Given the description of an element on the screen output the (x, y) to click on. 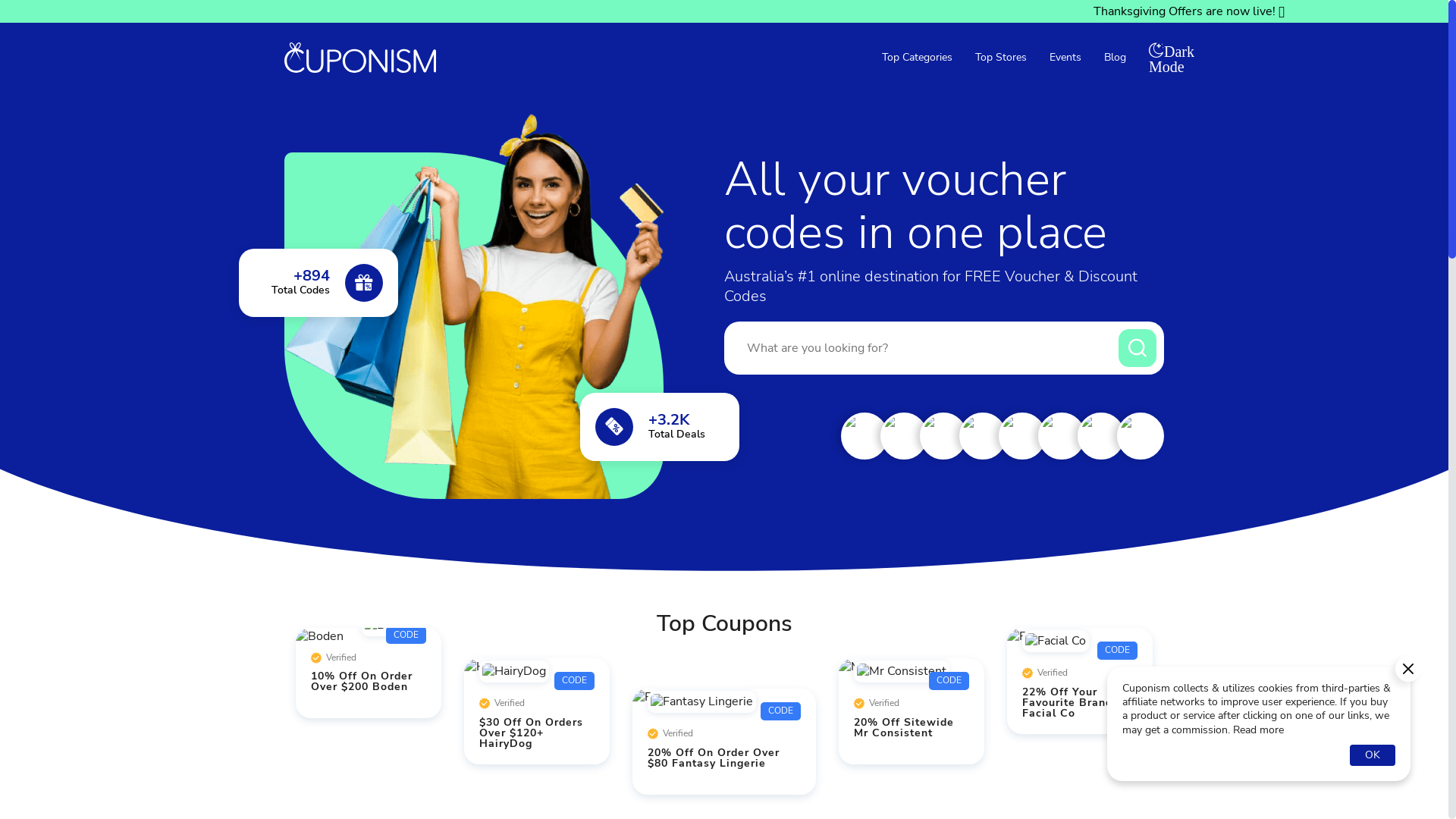
Blog Element type: text (1115, 57)
Cuponism Element type: hover (360, 57)
Crust Element type: hover (1140, 435)
JB HI-FI Element type: hover (1061, 435)
Top Stores Element type: text (1000, 57)
Dark Mode Element type: text (1156, 57)
HairyDog Element type: hover (536, 674)
Read more Element type: text (1258, 730)
Top Categories Element type: text (916, 57)
Facial Co Element type: hover (1079, 643)
The Man Shake Element type: hover (1021, 435)
OK Element type: text (1372, 754)
Events Element type: text (1065, 57)
Clearly Contacts Element type: hover (1100, 435)
Chemist Direct Element type: hover (864, 435)
Mr Consistent Element type: hover (911, 674)
Fantasy Lingerie Element type: hover (723, 704)
HairyDog Element type: hover (942, 435)
Boden Element type: hover (368, 635)
Emma Sleep Element type: hover (903, 435)
Uber Element type: hover (982, 435)
